Given the description of an element on the screen output the (x, y) to click on. 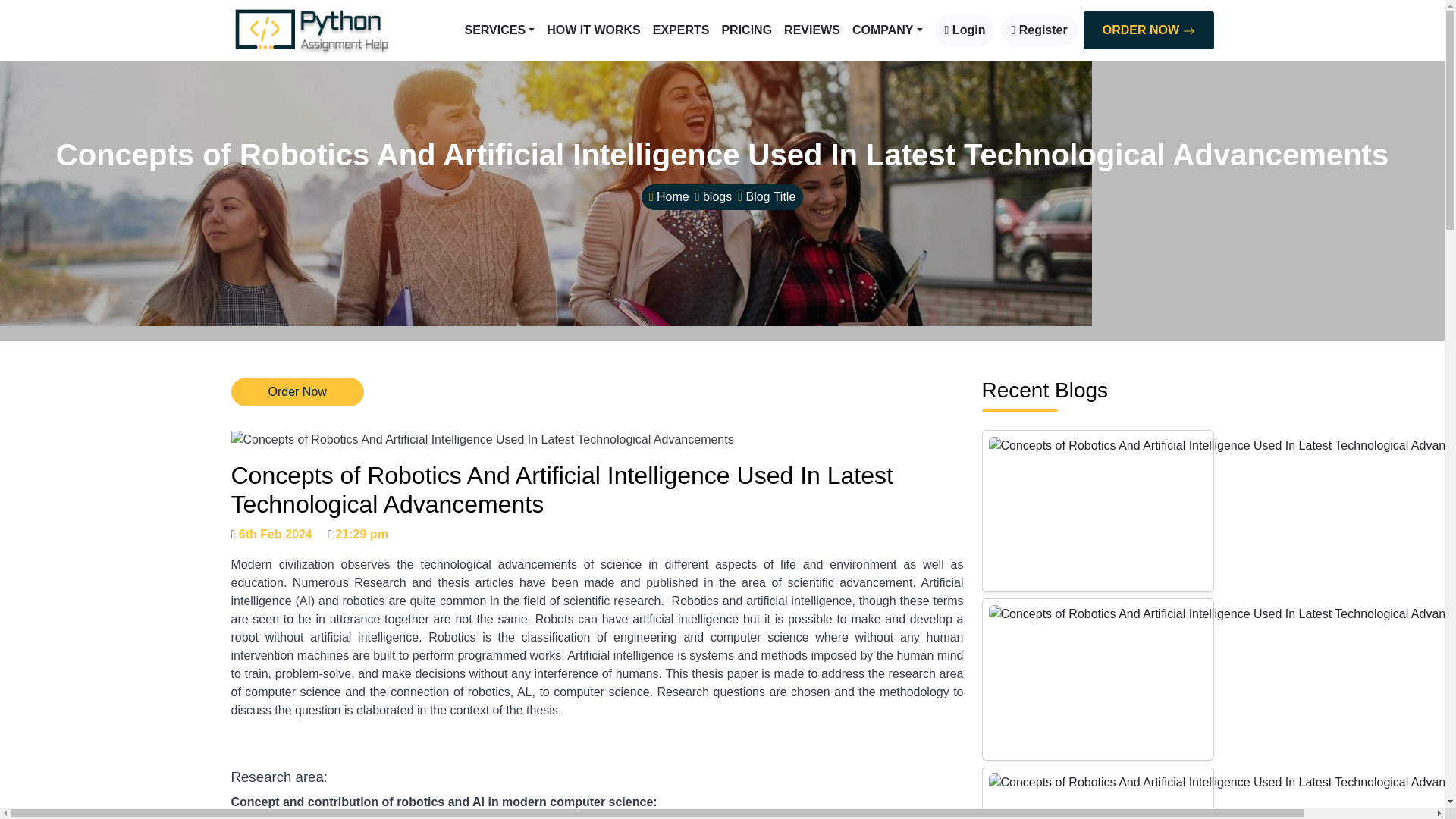
SERVICES (499, 30)
